Given the description of an element on the screen output the (x, y) to click on. 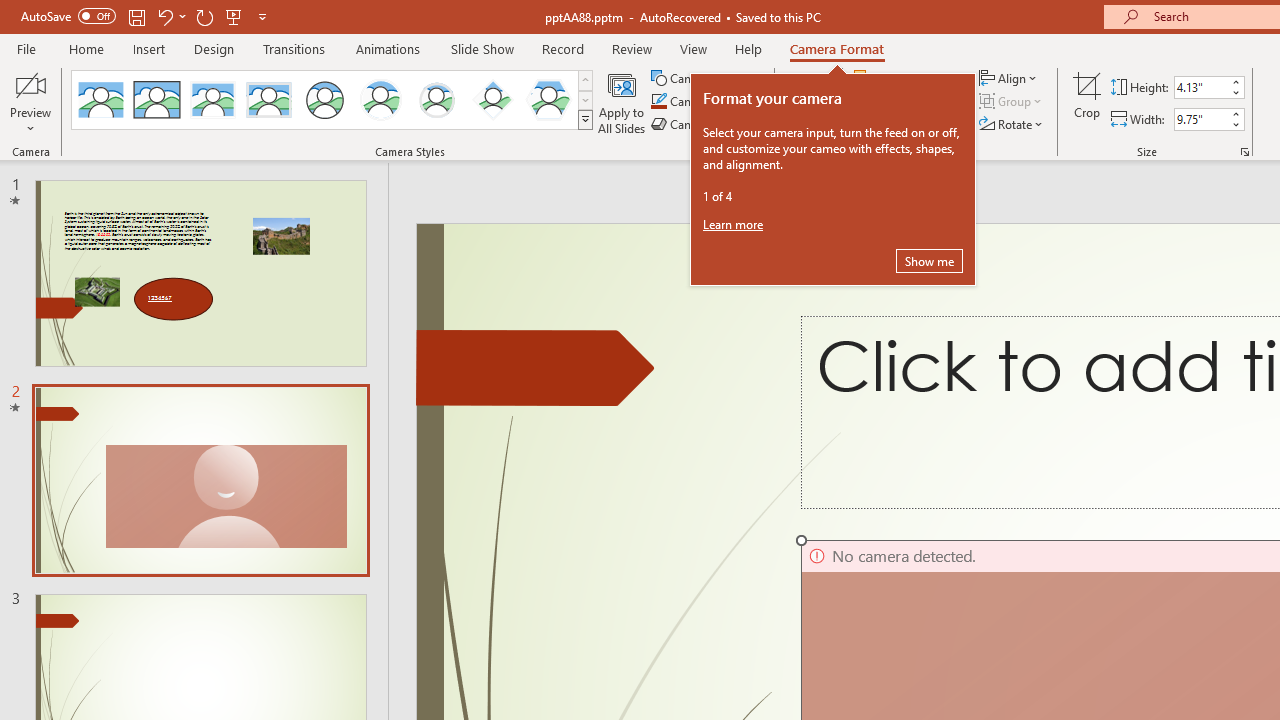
Rotate (1012, 124)
Center Shadow Hexagon (548, 100)
Soft Edge Rectangle (268, 100)
Apply to All Slides (621, 102)
Center Shadow Diamond (492, 100)
AutomationID: CameoStylesGallery (333, 99)
Simple Frame Rectangle (157, 100)
Camera Effects (706, 124)
Less (1235, 124)
